Given the description of an element on the screen output the (x, y) to click on. 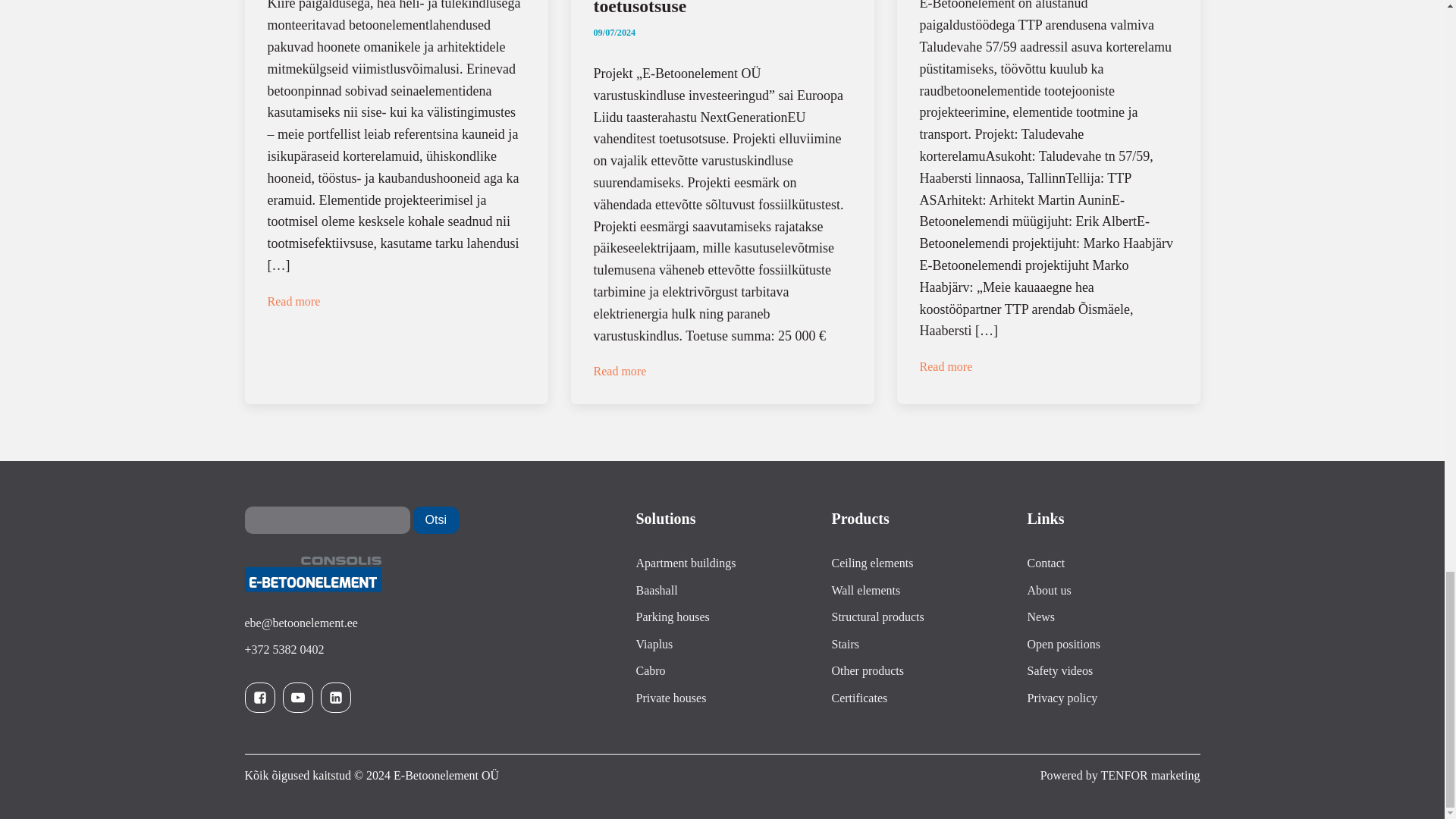
Otsi (435, 519)
